Given the description of an element on the screen output the (x, y) to click on. 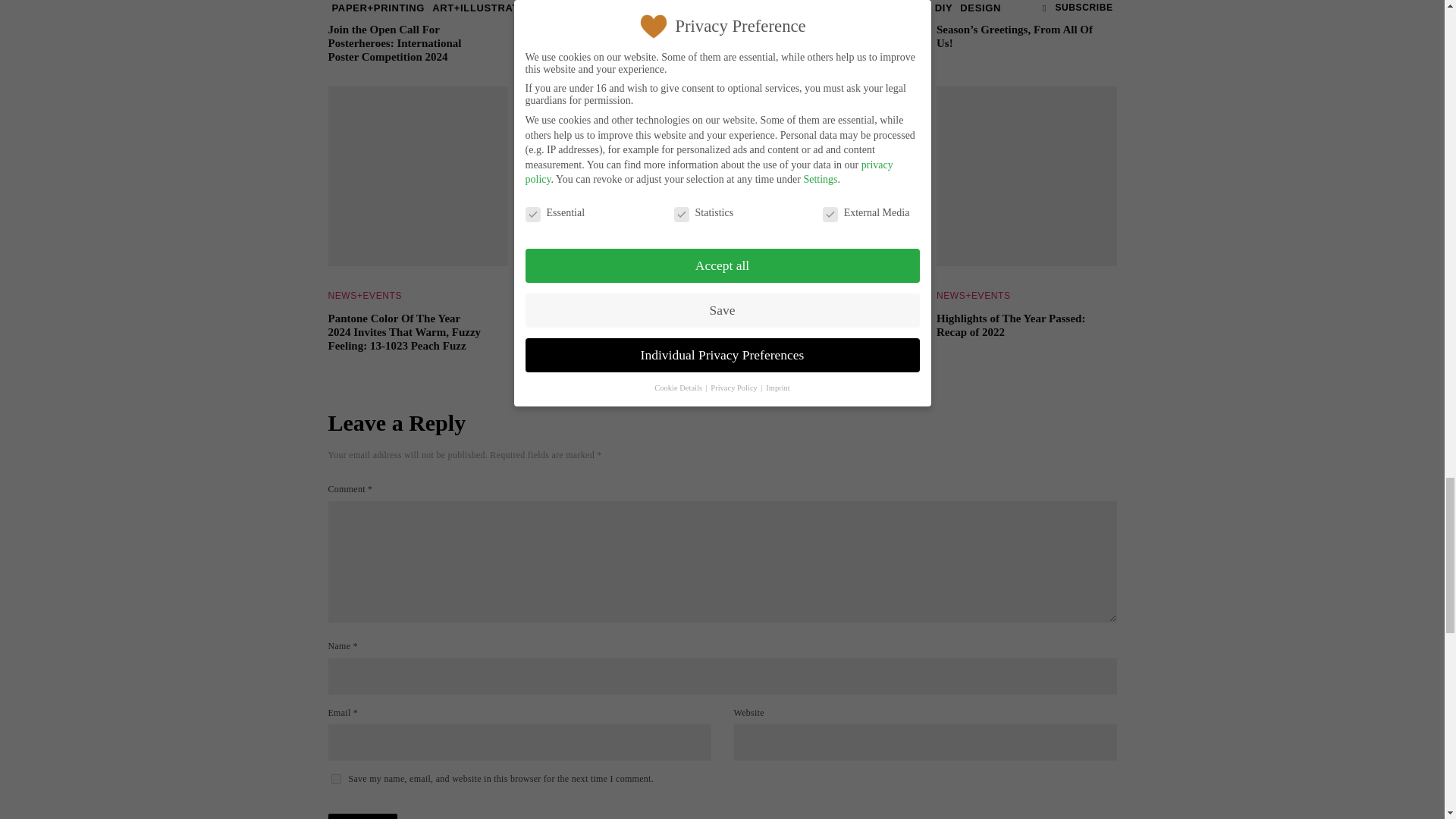
Submit (362, 816)
yes (335, 778)
